Given the description of an element on the screen output the (x, y) to click on. 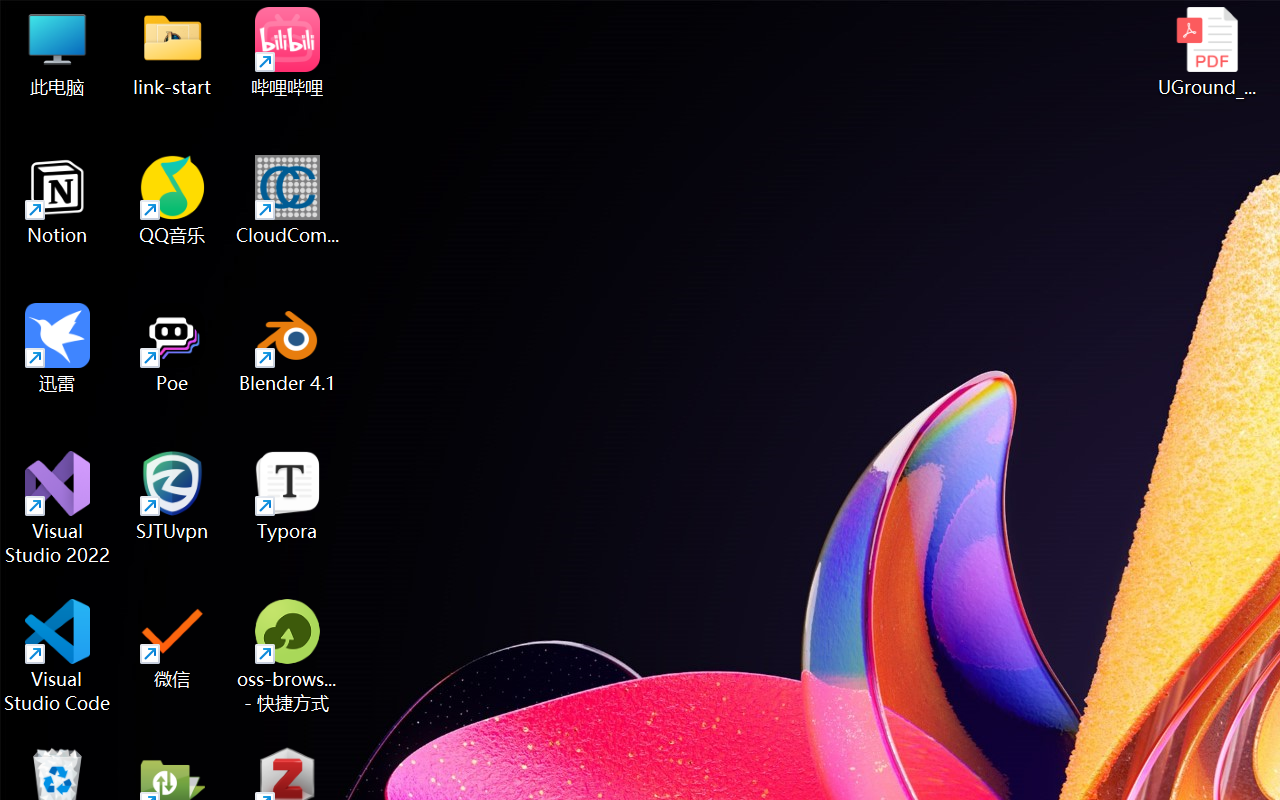
Visual Studio Code (57, 656)
Visual Studio 2022 (57, 508)
CloudCompare (287, 200)
Blender 4.1 (287, 348)
UGround_paper.pdf (1206, 52)
Typora (287, 496)
SJTUvpn (172, 496)
